Given the description of an element on the screen output the (x, y) to click on. 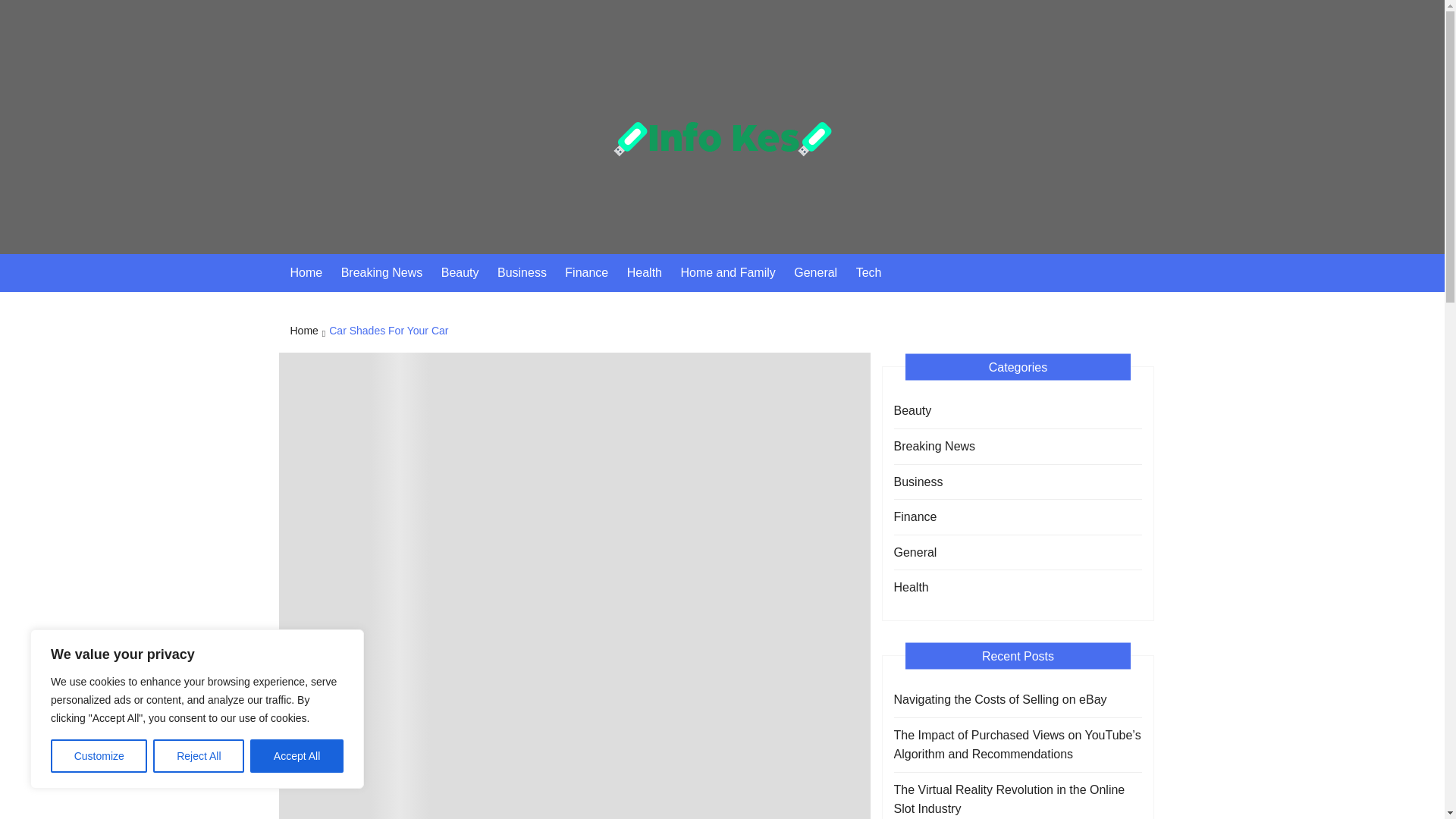
Home (309, 332)
General (822, 272)
Home (313, 272)
Home and Family (734, 272)
Reject All (198, 756)
Beauty (912, 410)
Tech (876, 272)
Health (652, 272)
Beauty (468, 272)
Business (917, 482)
